Given the description of an element on the screen output the (x, y) to click on. 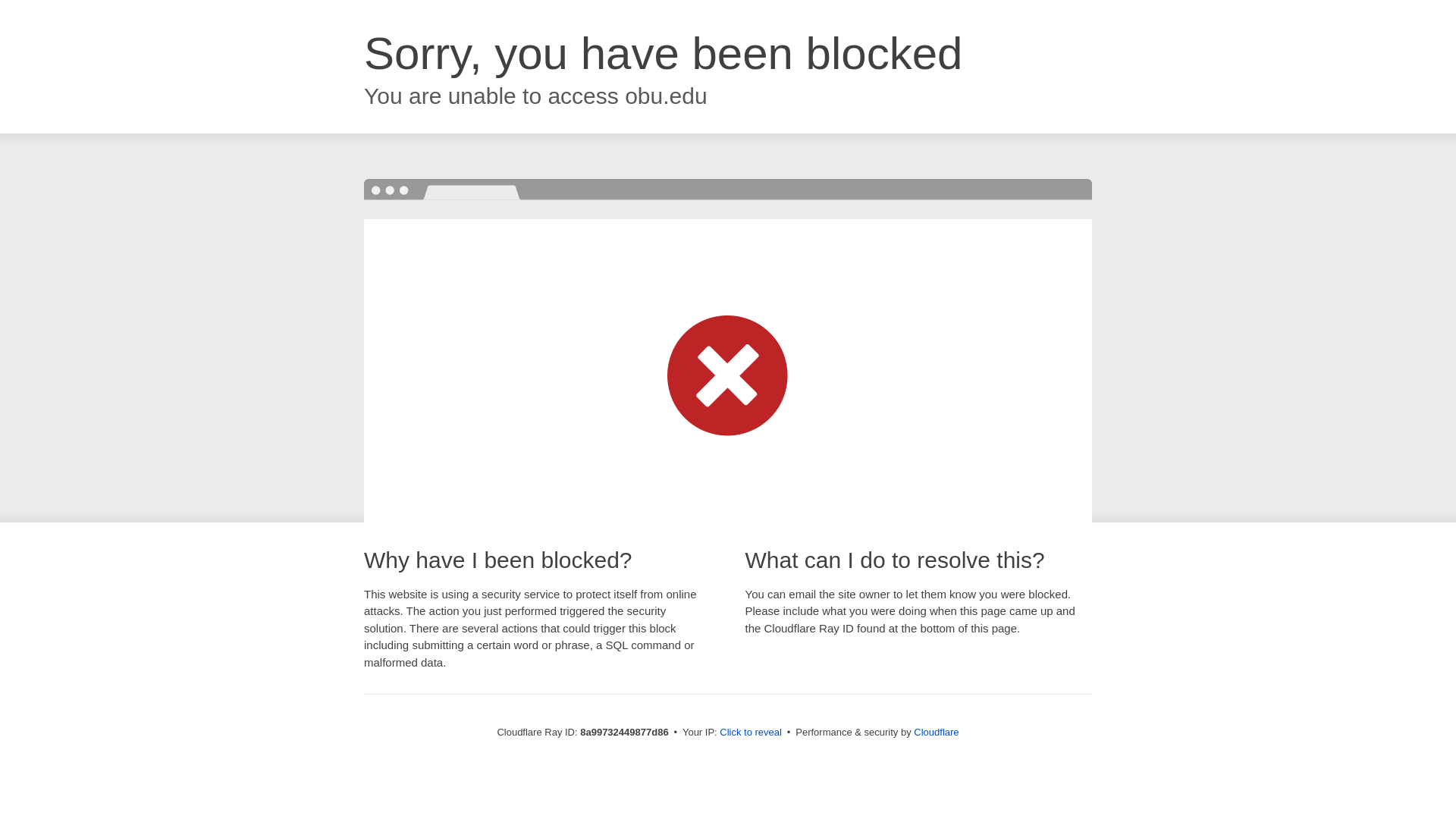
Cloudflare (936, 731)
Click to reveal (750, 732)
